Given the description of an element on the screen output the (x, y) to click on. 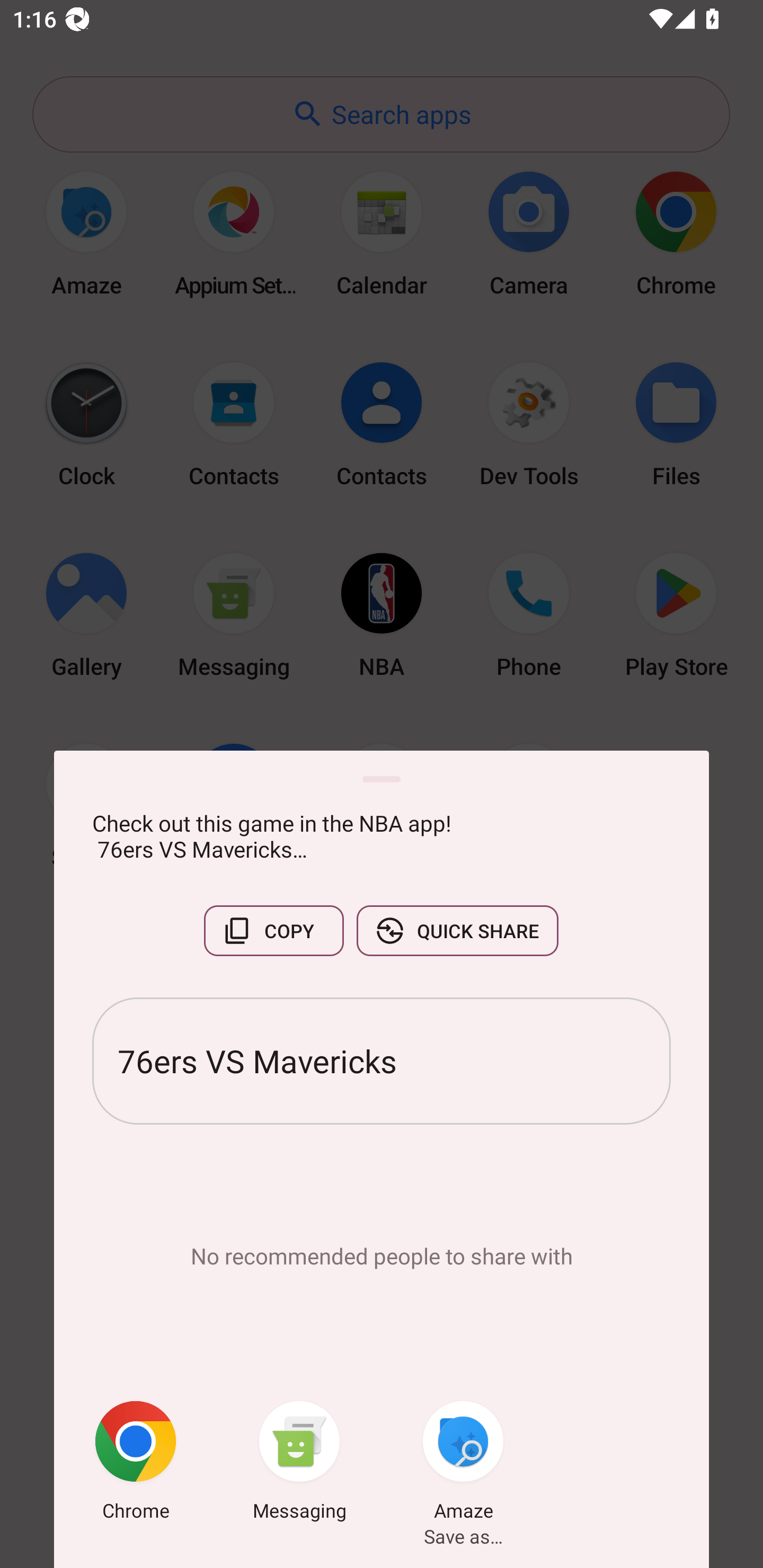
COPY (273, 930)
QUICK SHARE (457, 930)
Chrome (135, 1463)
Messaging (299, 1463)
Amaze Save as… (463, 1463)
